Given the description of an element on the screen output the (x, y) to click on. 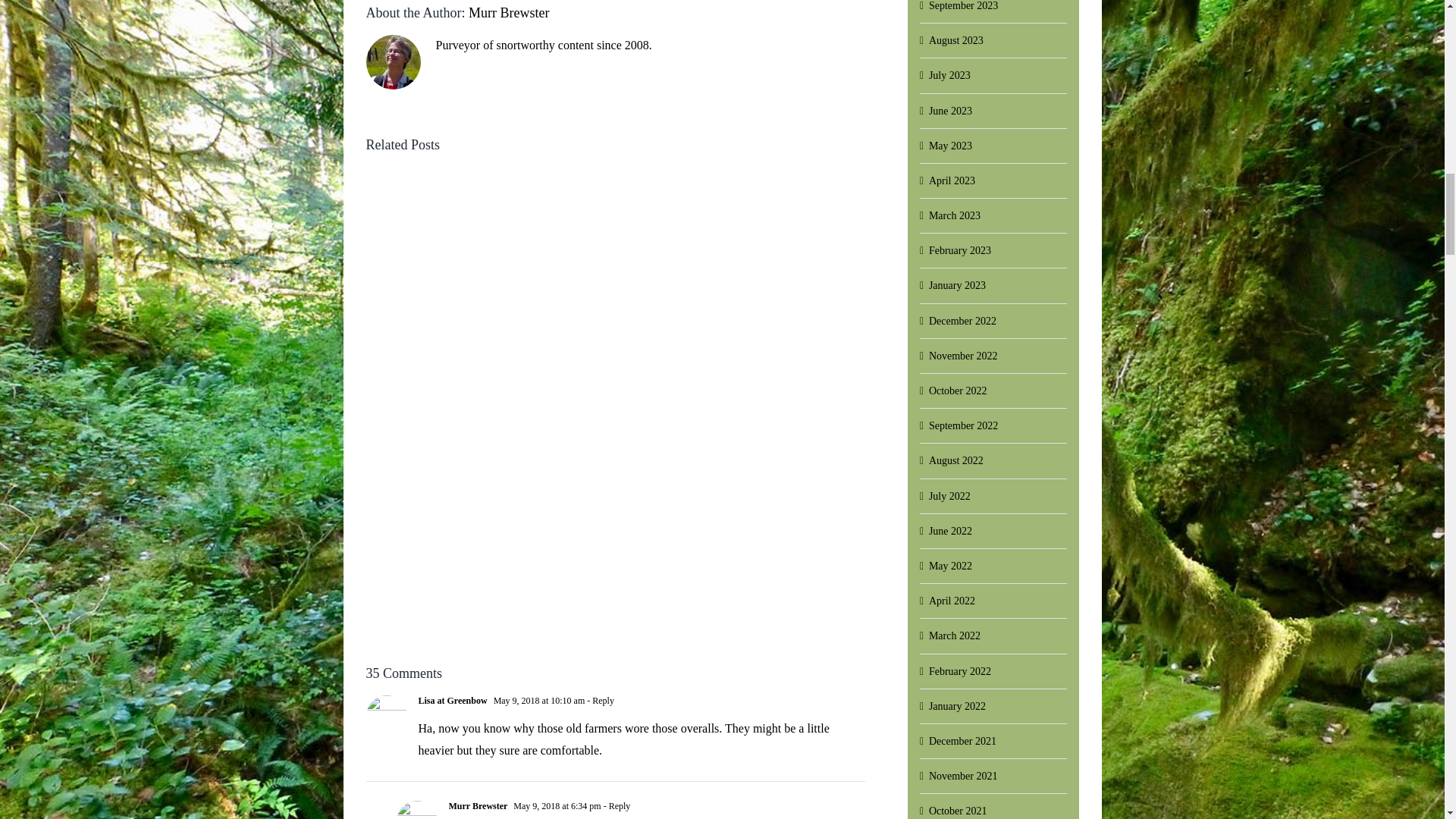
Posts by Murr Brewster (508, 12)
Murr Brewster (508, 12)
